Given the description of an element on the screen output the (x, y) to click on. 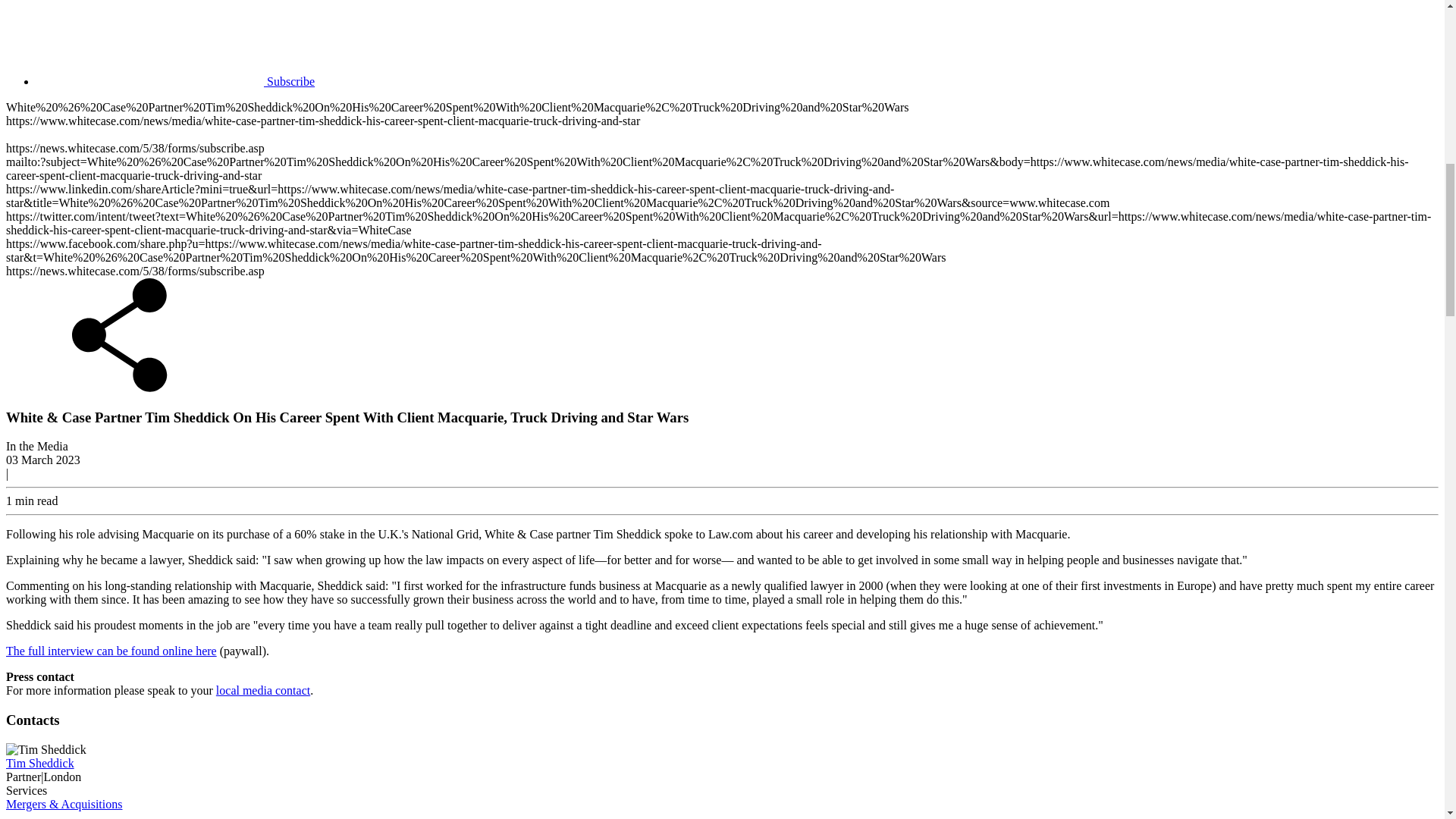
Tim Sheddick (39, 762)
Share this Page (118, 387)
Subscribe (175, 81)
Subscribe (175, 81)
The full interview can be found online here (110, 650)
